Given the description of an element on the screen output the (x, y) to click on. 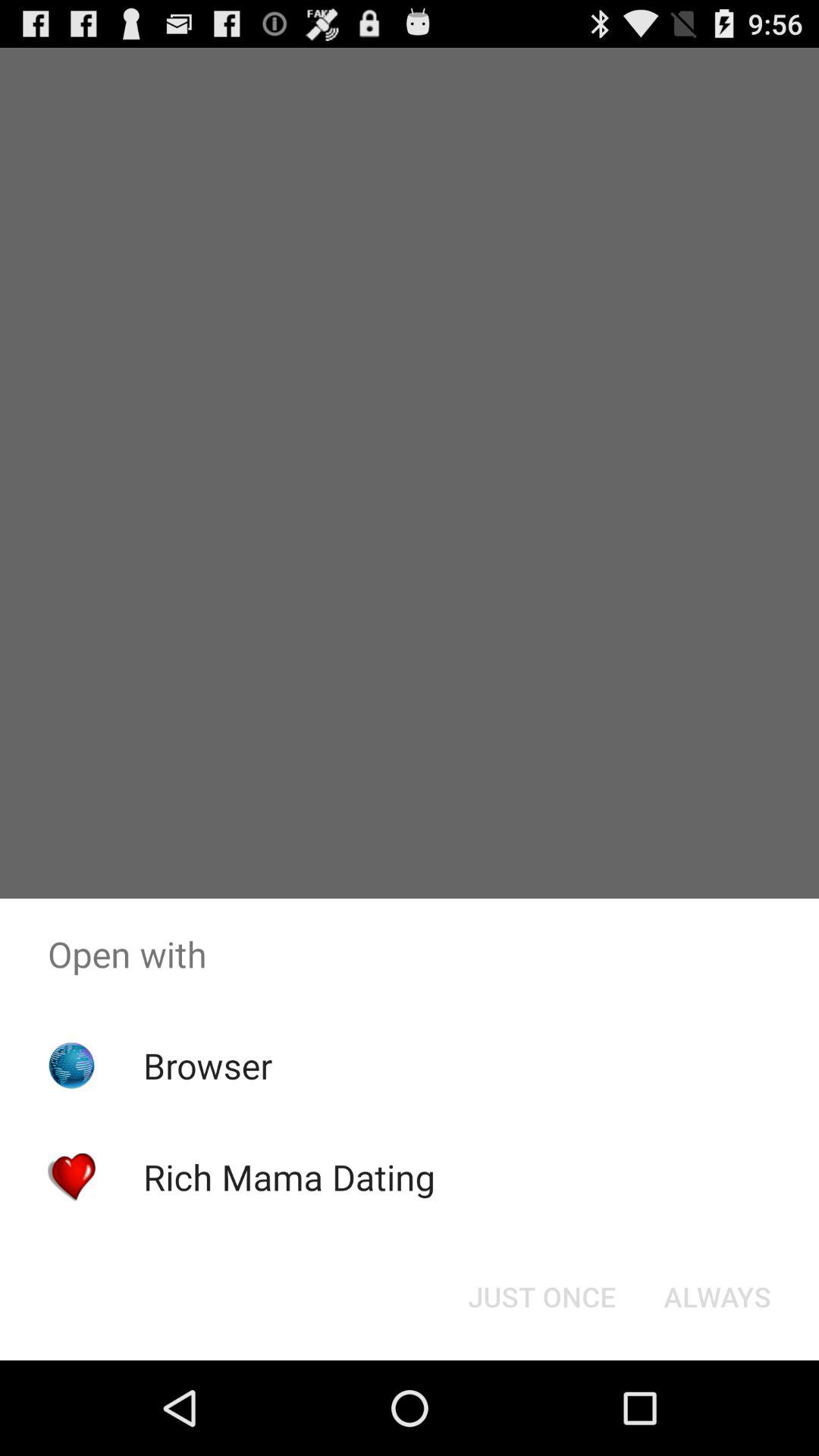
turn on icon to the left of always button (541, 1296)
